Given the description of an element on the screen output the (x, y) to click on. 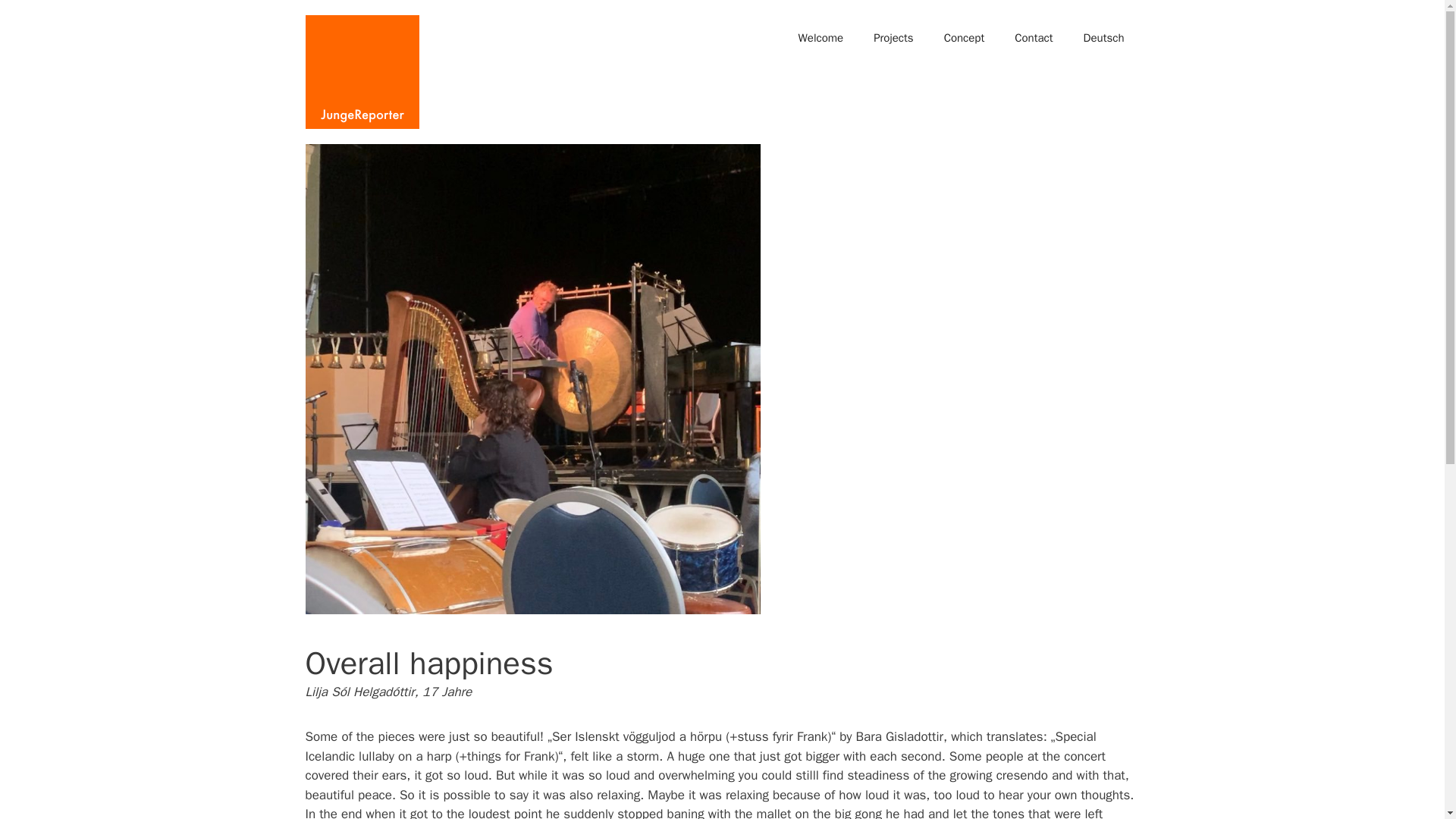
Welcome (821, 37)
Projects (893, 37)
Contact (1032, 37)
Concept (964, 37)
Deutsch (1104, 37)
